Given the description of an element on the screen output the (x, y) to click on. 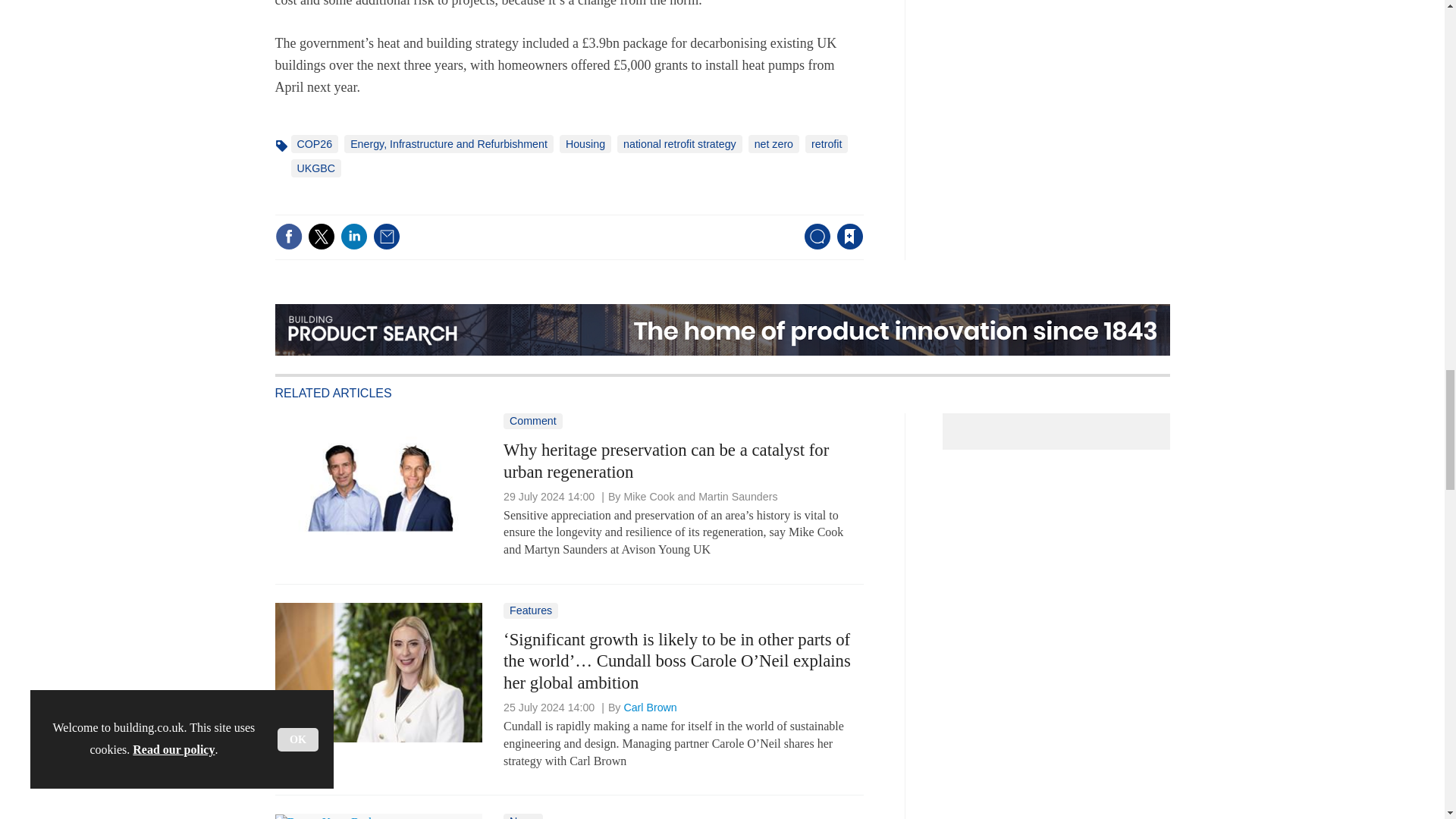
Share this on Facebook (288, 236)
Email this article (386, 236)
Share this on Twitter (320, 236)
No comments (812, 245)
Share this on Linked in (352, 236)
